Given the description of an element on the screen output the (x, y) to click on. 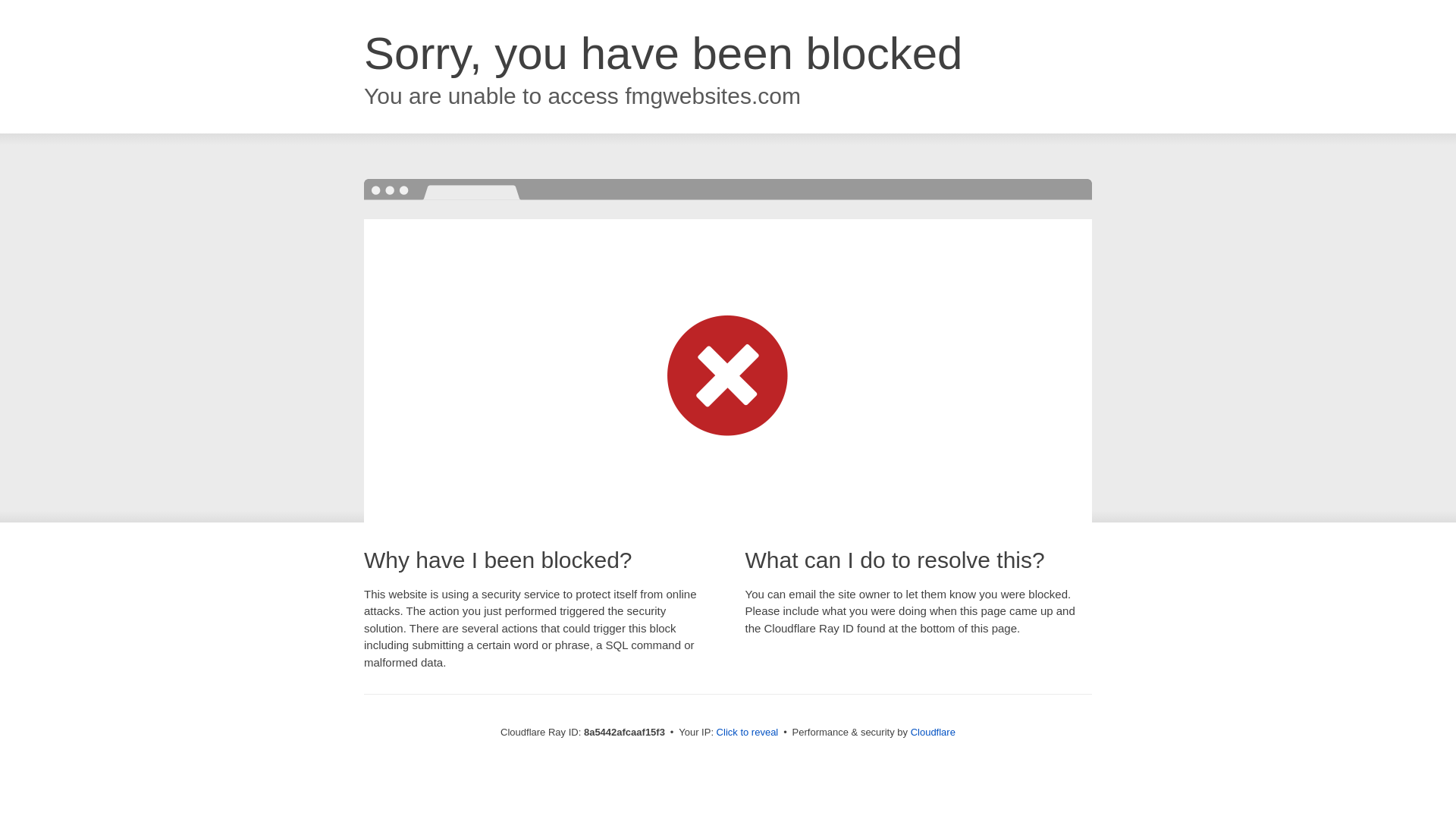
Cloudflare (933, 731)
Click to reveal (747, 732)
